Given the description of an element on the screen output the (x, y) to click on. 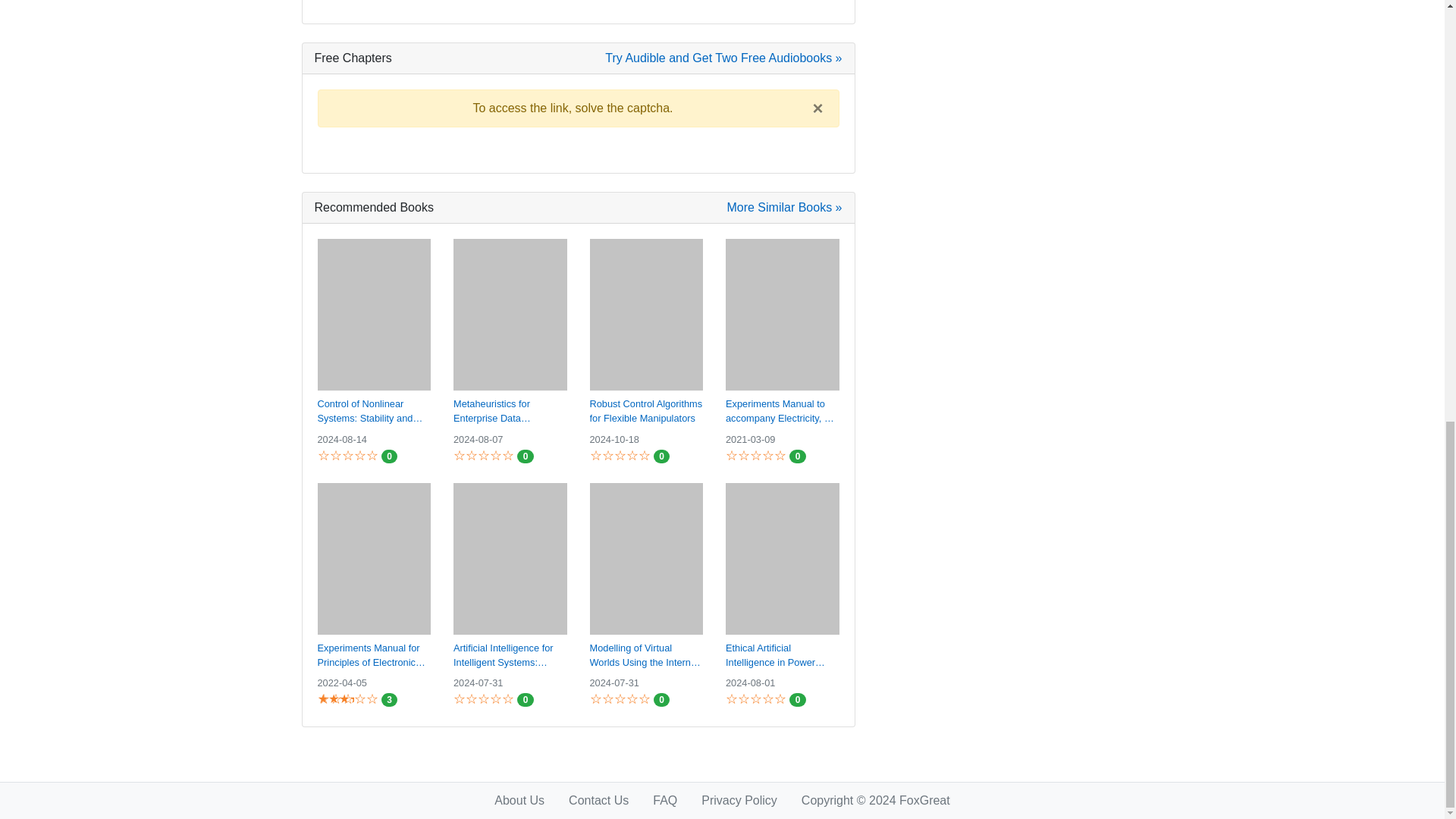
3 out of 5 Stars (335, 699)
